Given the description of an element on the screen output the (x, y) to click on. 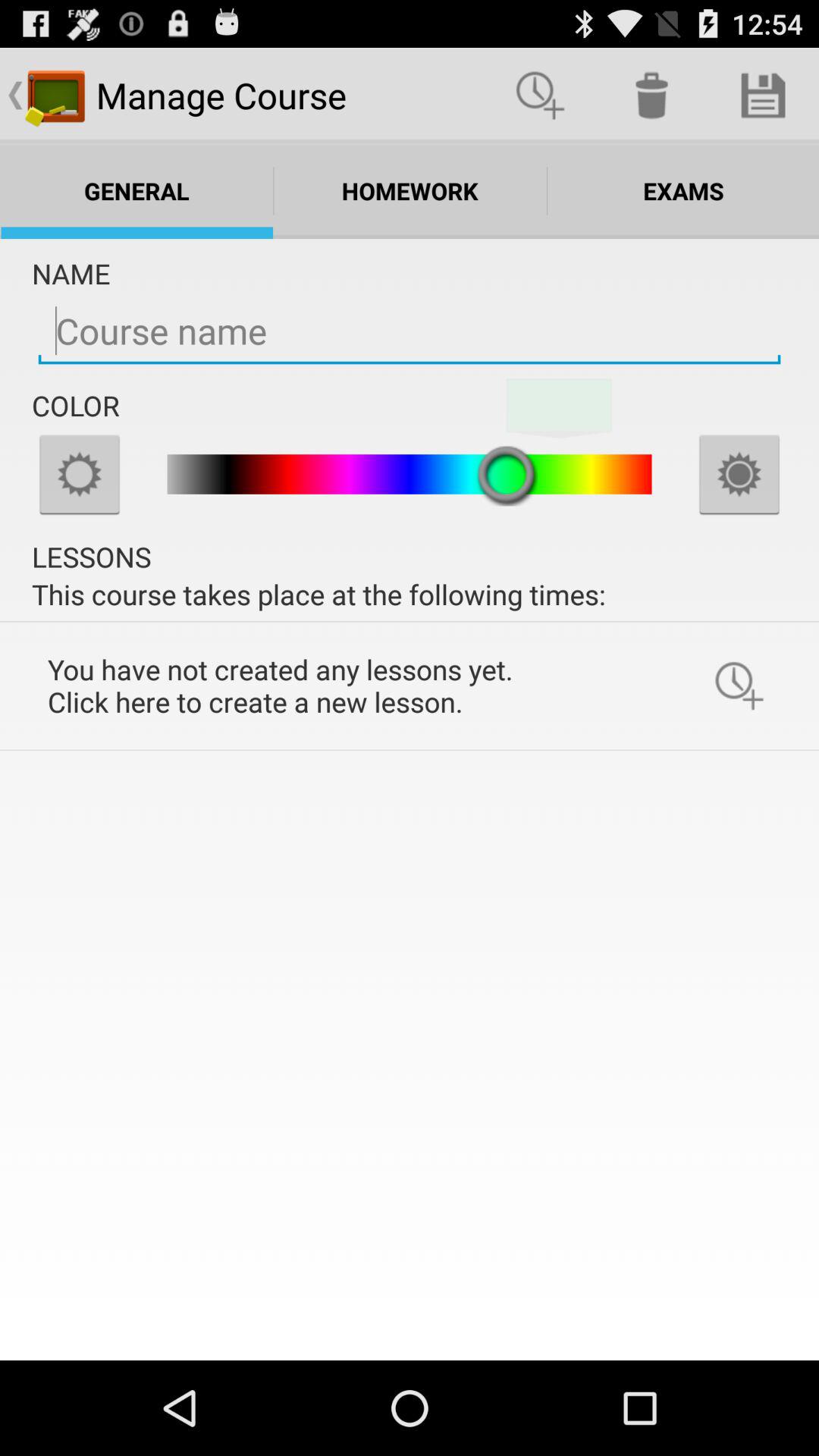
color (79, 474)
